Given the description of an element on the screen output the (x, y) to click on. 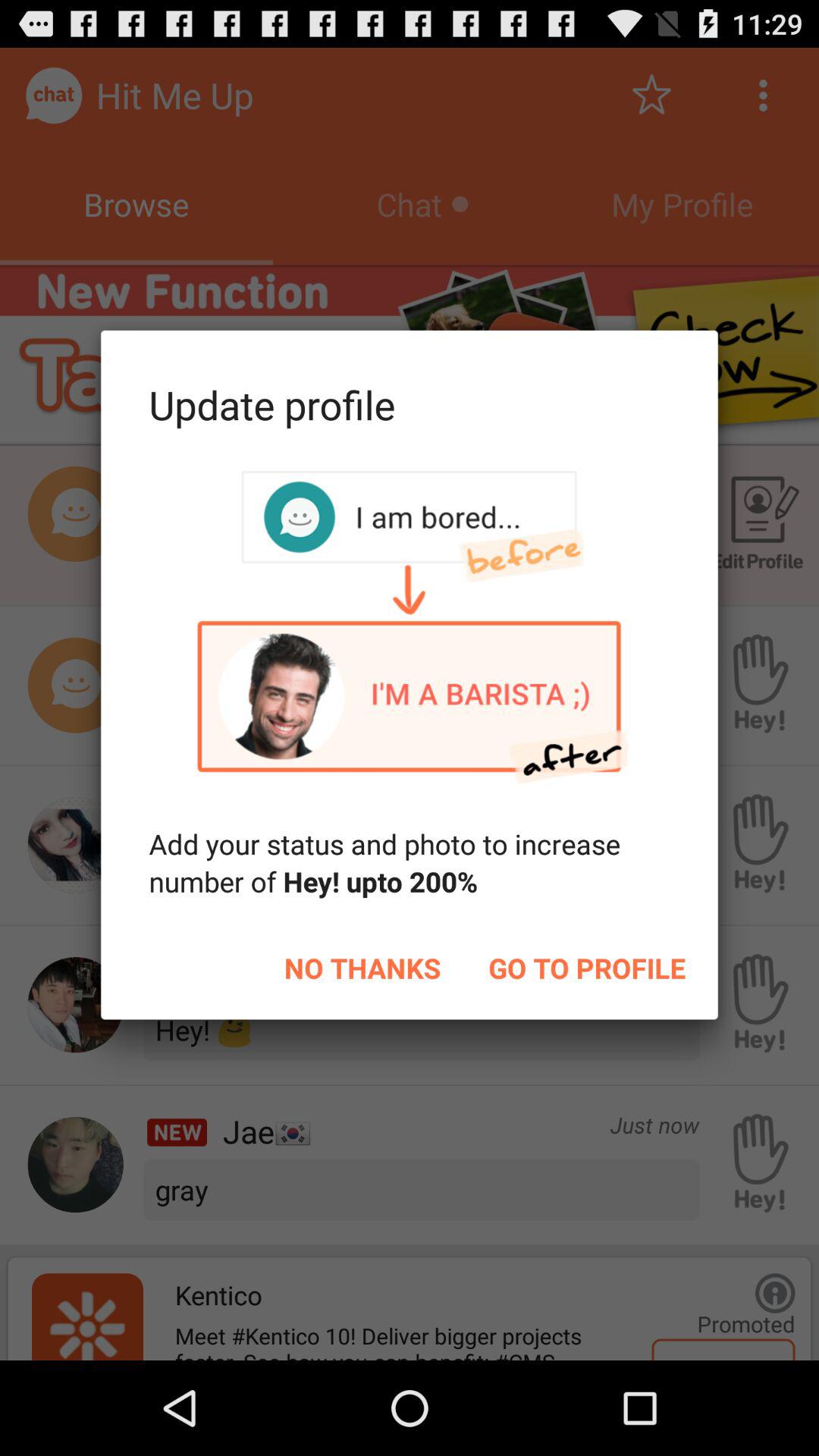
turn on item next to the no thanks icon (586, 967)
